Given the description of an element on the screen output the (x, y) to click on. 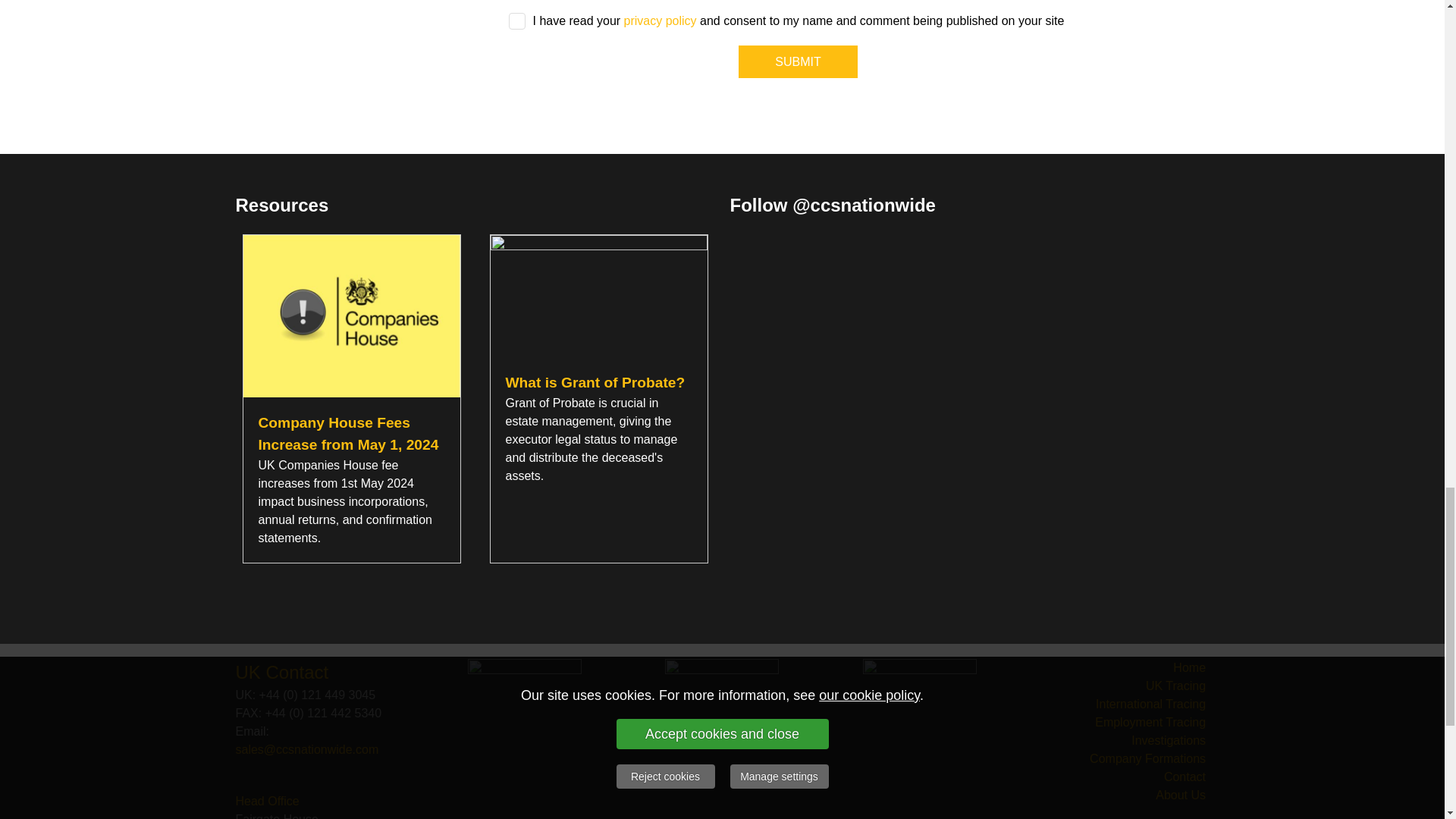
privacy policy (660, 20)
SUBMIT (797, 61)
